Given the description of an element on the screen output the (x, y) to click on. 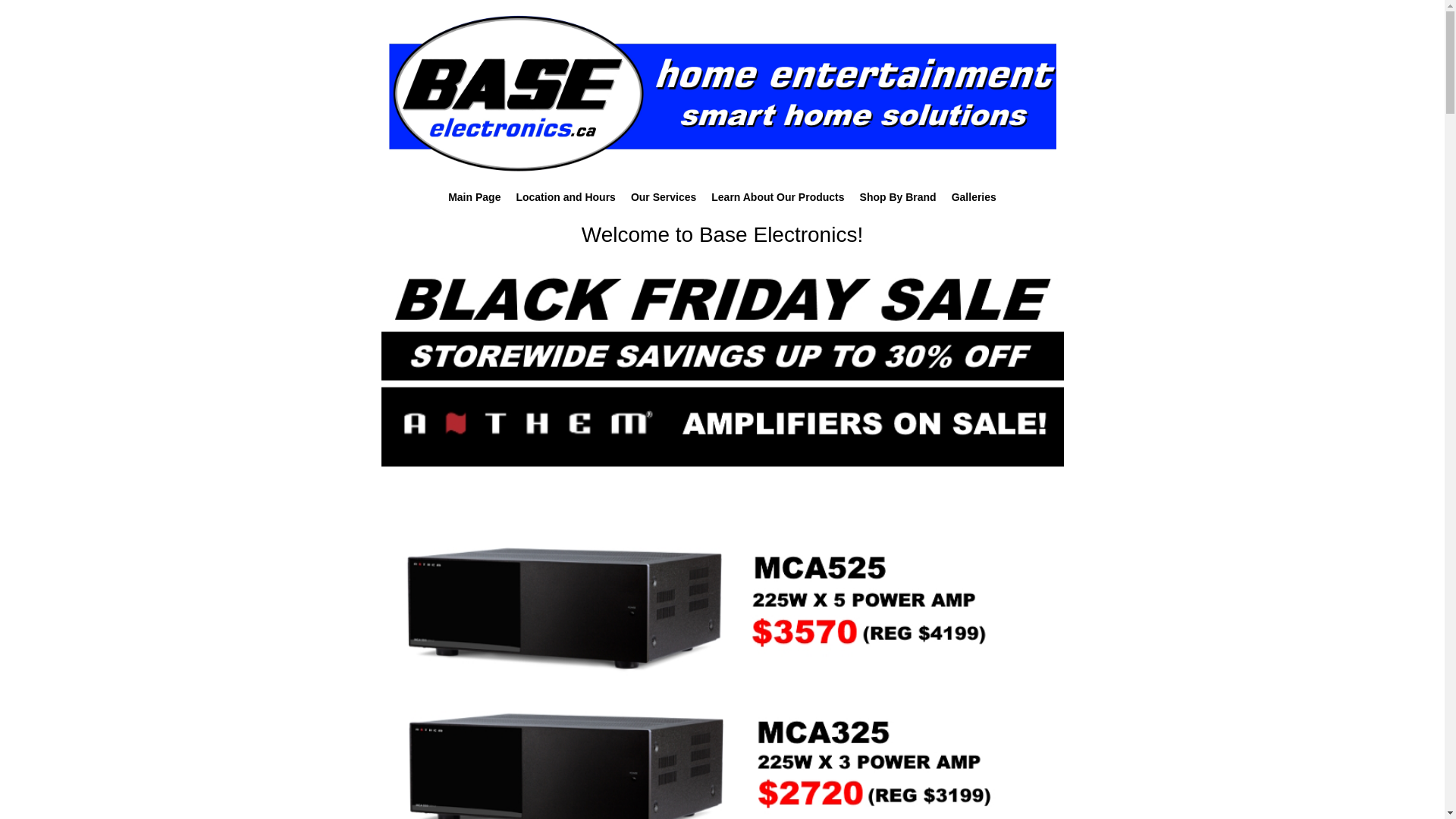
Shop By Brand Element type: text (898, 197)
Main Page Element type: text (474, 197)
Galleries Element type: text (974, 197)
Location and Hours Element type: text (565, 197)
Our Services Element type: text (663, 197)
Learn About Our Products Element type: text (777, 197)
